Given the description of an element on the screen output the (x, y) to click on. 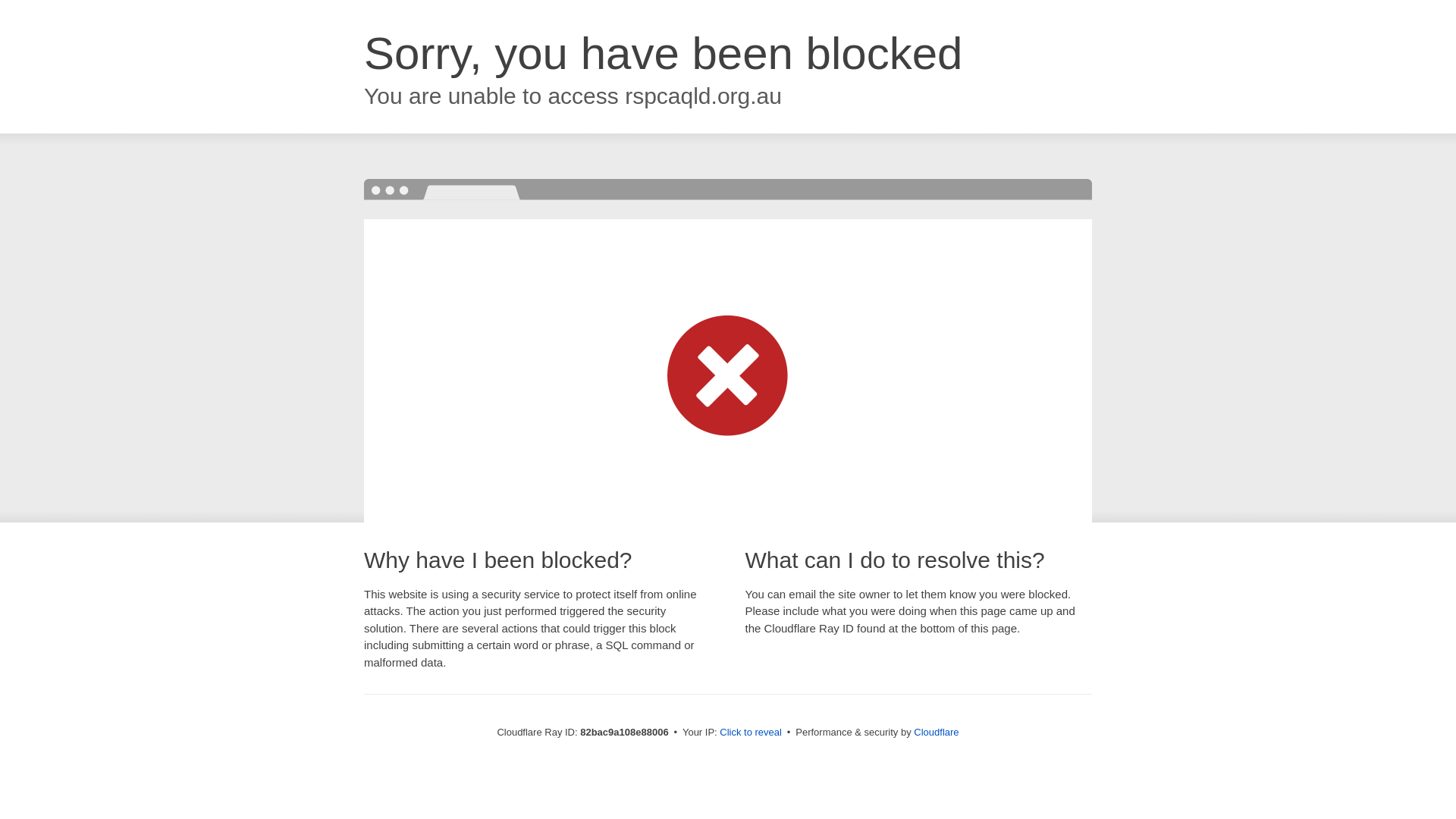
Cloudflare Element type: text (935, 731)
Click to reveal Element type: text (750, 732)
